Given the description of an element on the screen output the (x, y) to click on. 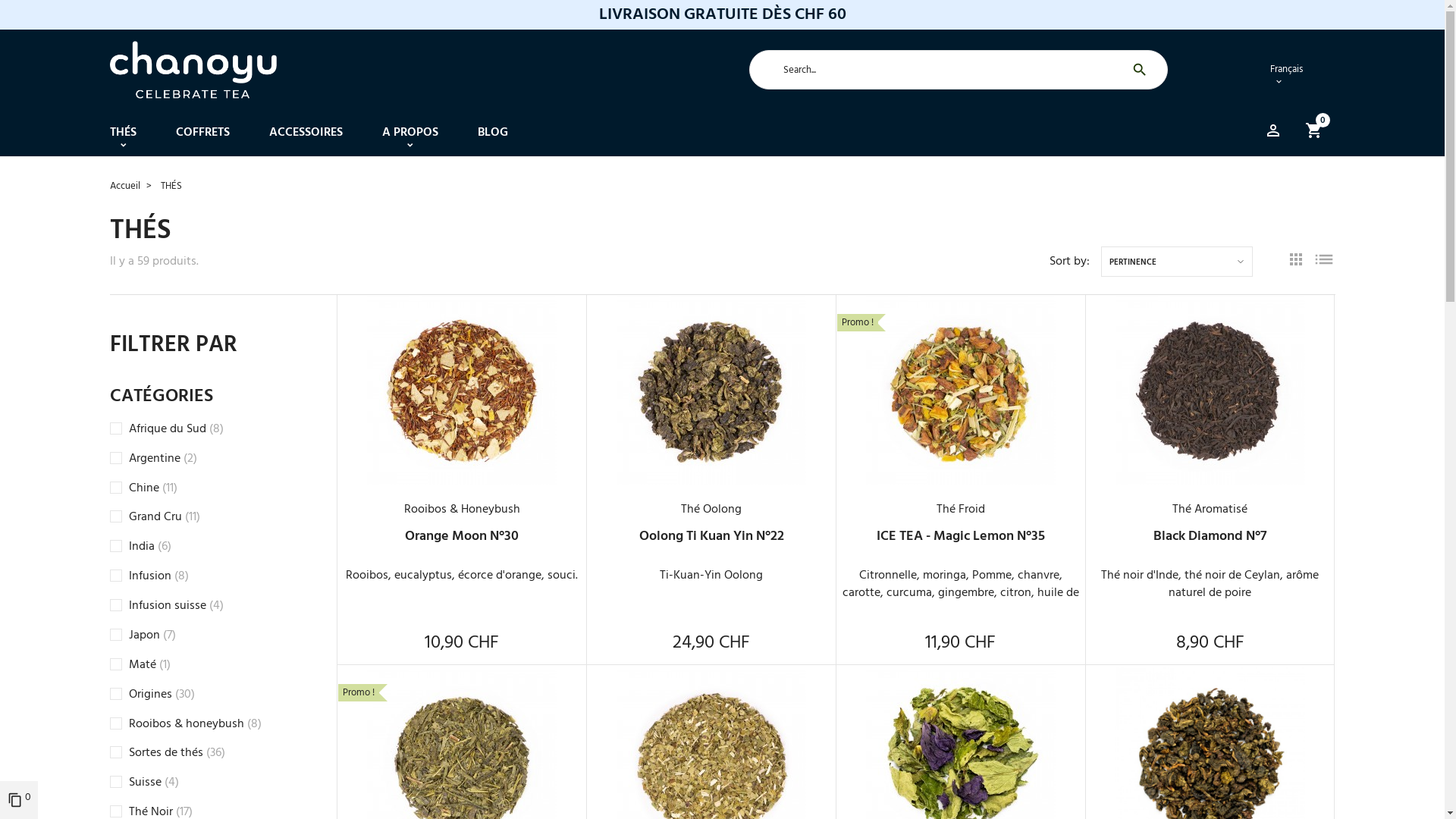
COFFRETS Element type: text (202, 132)
Accueil Element type: text (124, 186)
PERTINENCE Element type: text (1176, 261)
ACCESSOIRES Element type: text (305, 132)
Suisse (4) Element type: text (153, 782)
India (6) Element type: text (149, 546)
List Element type: hover (1322, 261)
Grid Element type: hover (1295, 261)
Argentine (2) Element type: text (162, 458)
Chanoyu Element type: hover (192, 68)
A PROPOS Element type: text (410, 132)
BLOG Element type: text (492, 132)
Afrique du Sud (8) Element type: text (175, 429)
Infusion suisse (4) Element type: text (175, 605)
Japon (7) Element type: text (151, 635)
0 Element type: text (1319, 132)
Chine (11) Element type: text (152, 488)
Grand Cru (11) Element type: text (164, 517)
Origines (30) Element type: text (161, 694)
Rooibos & honeybush (8) Element type: text (194, 724)
Infusion (8) Element type: text (158, 576)
